Given the description of an element on the screen output the (x, y) to click on. 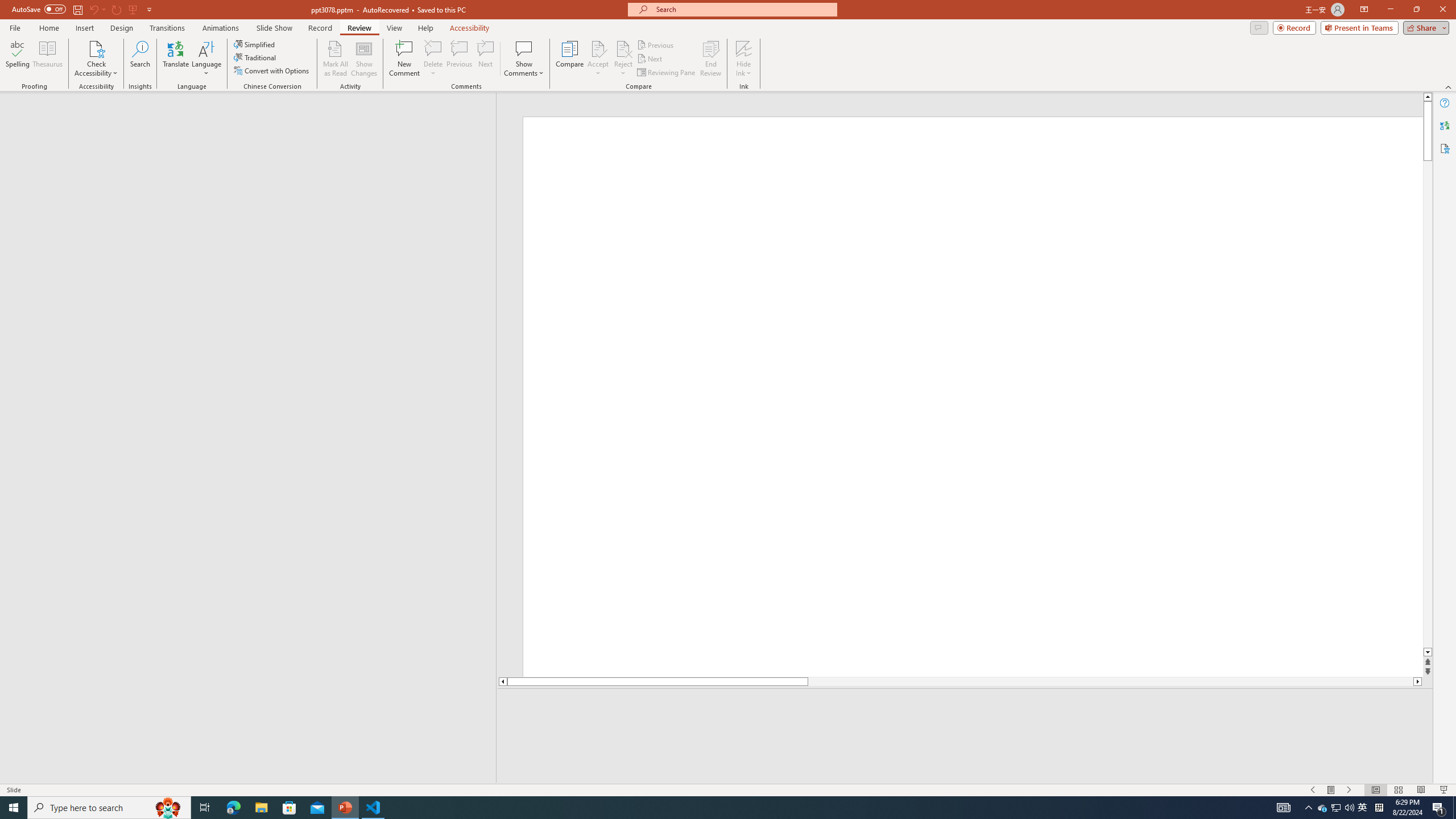
Hide Ink (743, 58)
Accept Change (598, 48)
Convert with Options... (272, 69)
Show Changes (363, 58)
